Given the description of an element on the screen output the (x, y) to click on. 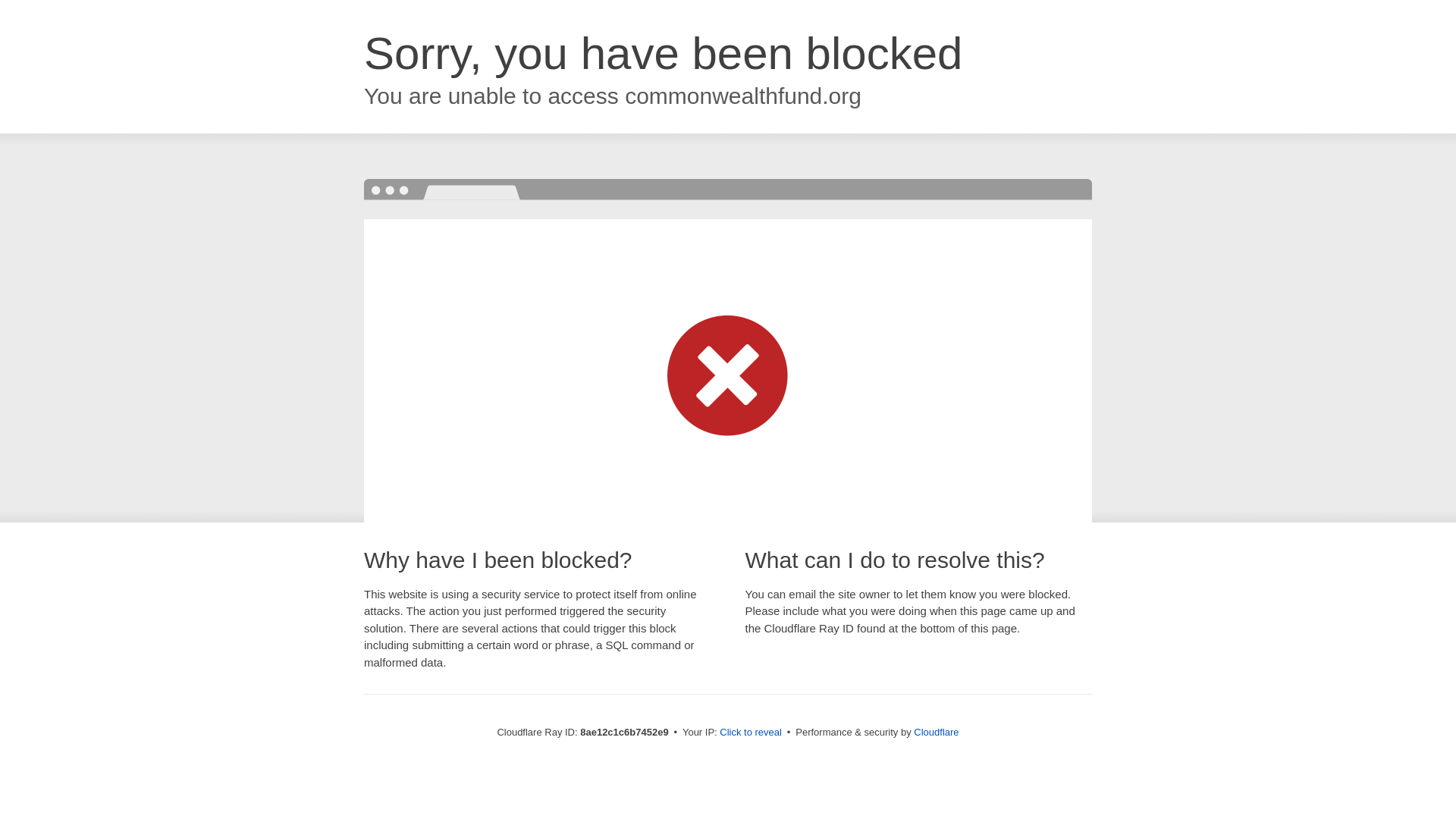
Click to reveal (750, 732)
Cloudflare (936, 731)
